Given the description of an element on the screen output the (x, y) to click on. 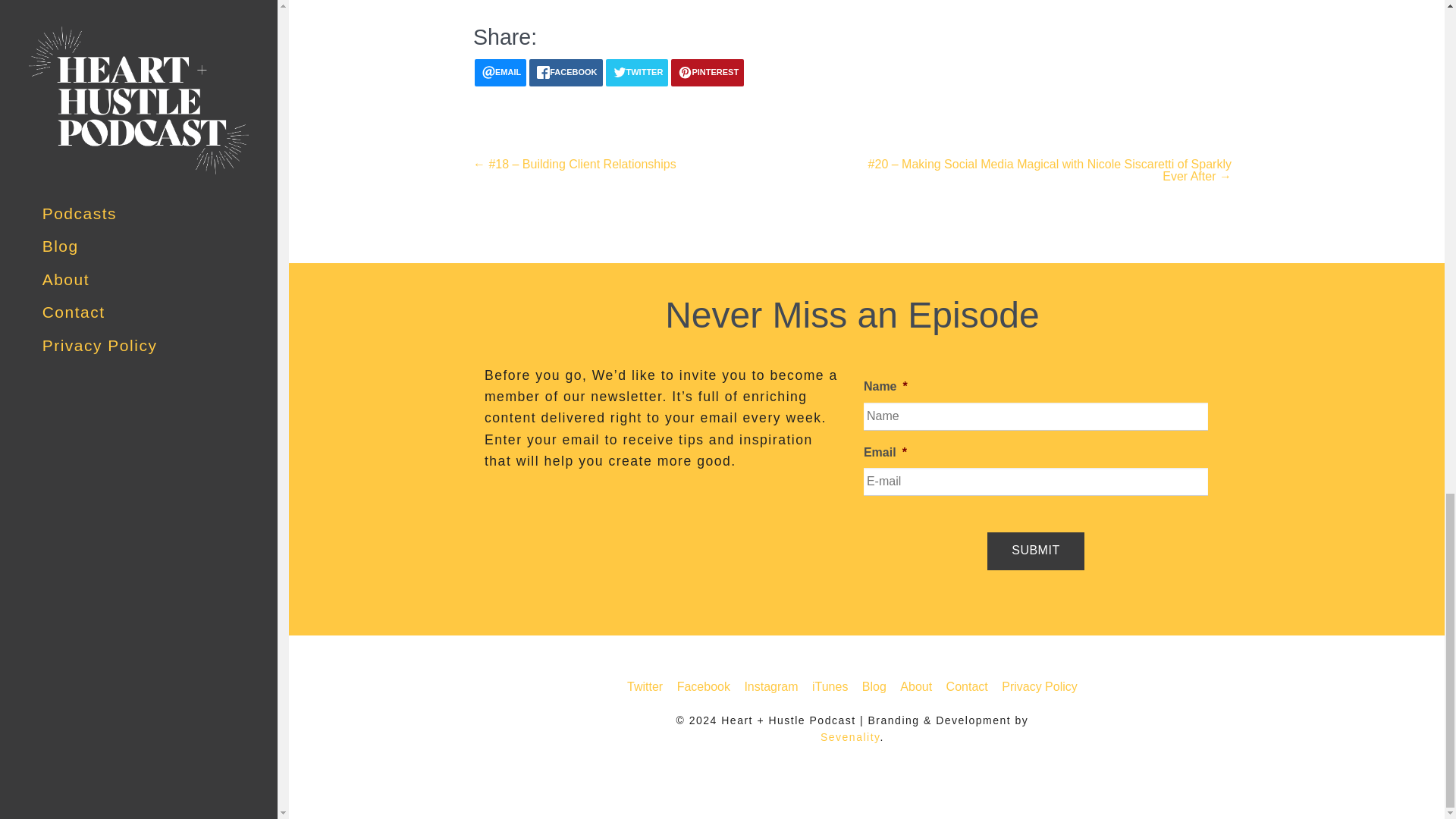
FACEBOOK (565, 72)
Heartandhustle Instagram (770, 686)
Submit (1035, 551)
Heartandhustle Facebook (829, 686)
PINTEREST (707, 72)
EMAIL (499, 72)
Twitter (644, 686)
Sevenality - Branding Firm (850, 736)
Submit (1035, 551)
Heartandhustle Twitter (644, 686)
TWITTER (636, 72)
Heartandhustle Facebook (703, 686)
